Given the description of an element on the screen output the (x, y) to click on. 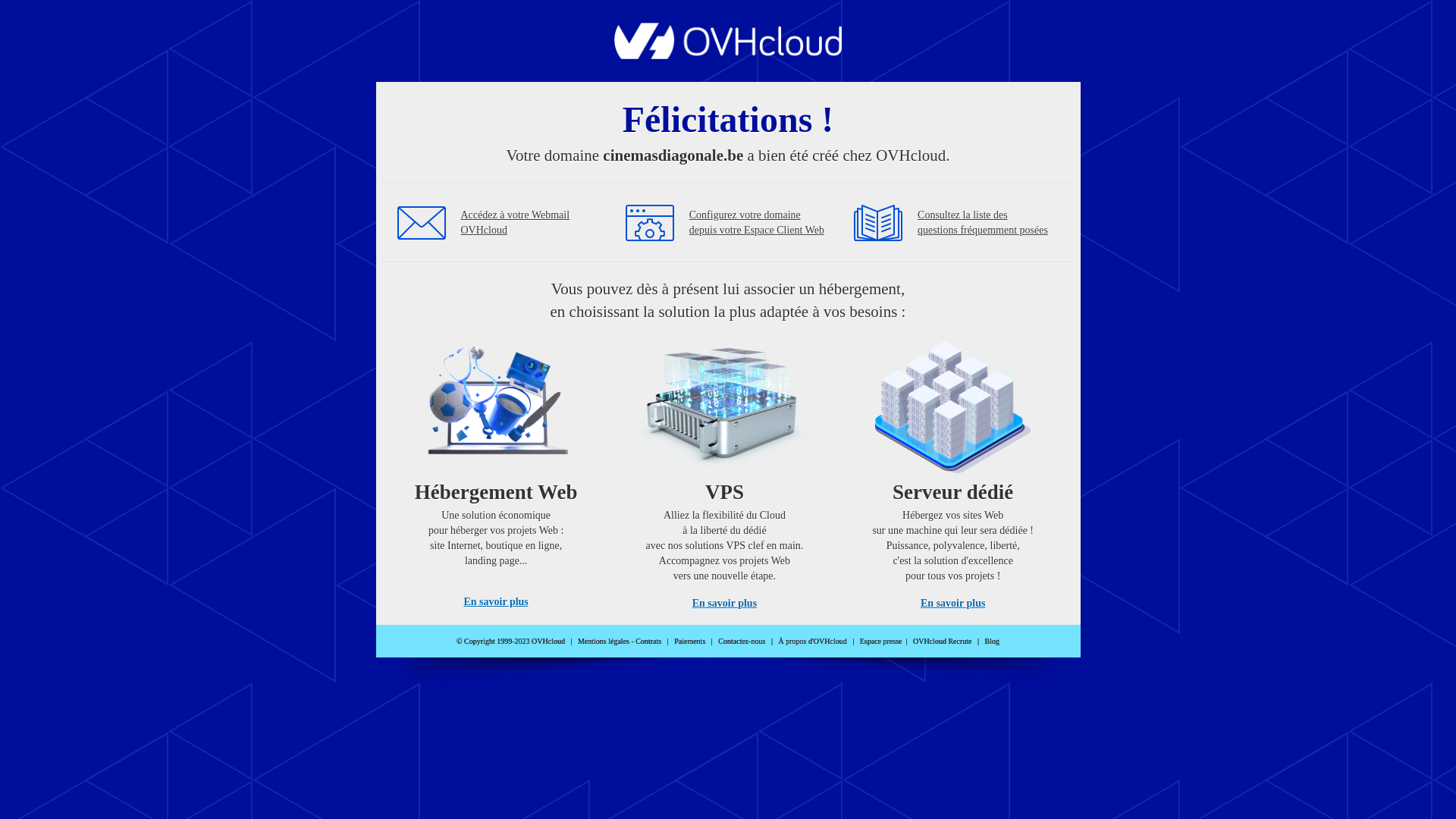
VPS Element type: hover (724, 469)
En savoir plus Element type: text (724, 602)
Configurez votre domaine
depuis votre Espace Client Web Element type: text (756, 222)
Espace presse Element type: text (880, 641)
OVHcloud Element type: hover (727, 54)
Contactez-nous Element type: text (741, 641)
En savoir plus Element type: text (495, 601)
Blog Element type: text (992, 641)
OVHcloud Recrute Element type: text (942, 641)
Paiements Element type: text (689, 641)
En savoir plus Element type: text (952, 602)
